Given the description of an element on the screen output the (x, y) to click on. 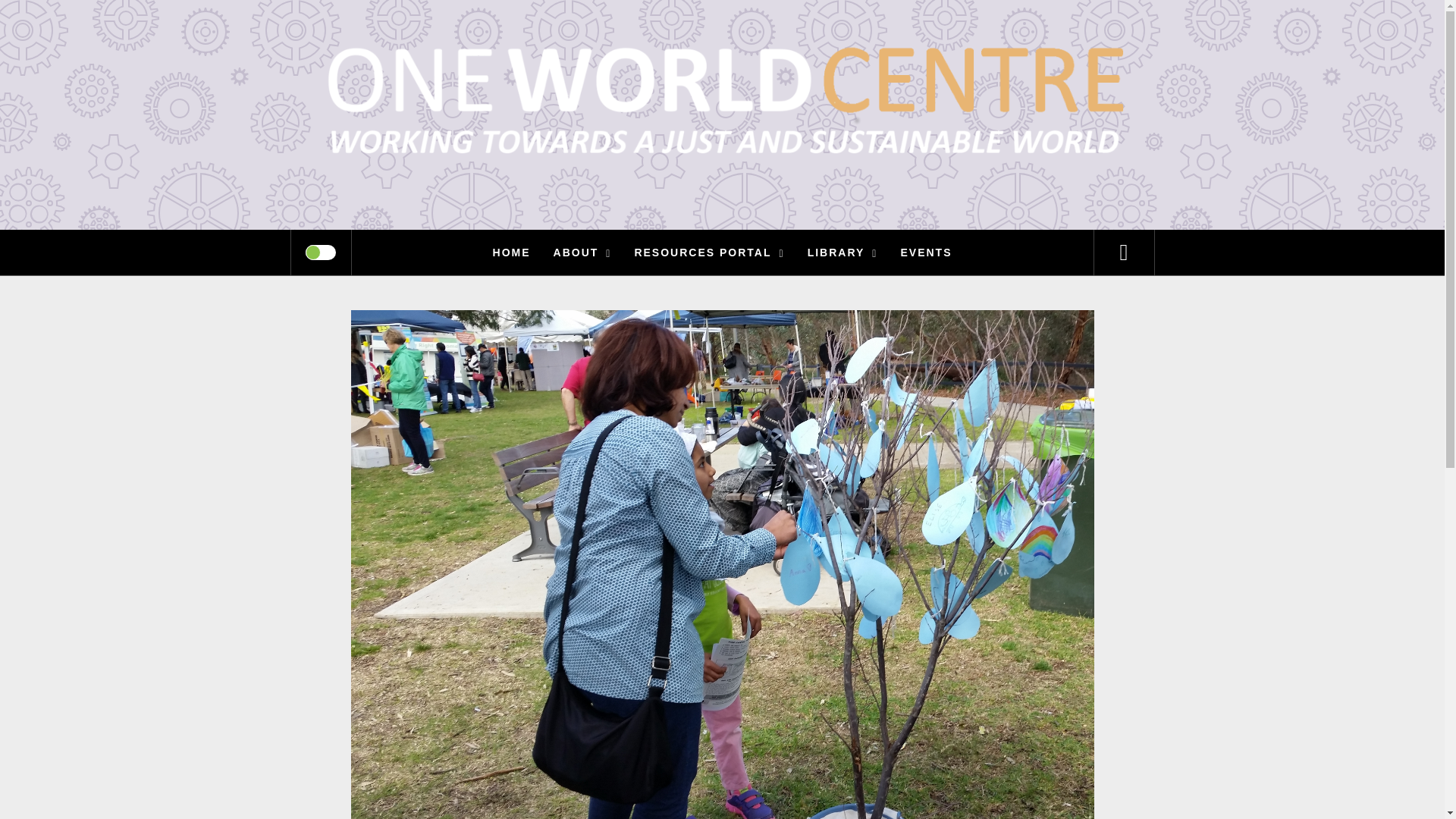
RESOURCES PORTAL (708, 252)
ABOUT (582, 252)
LIBRARY (842, 252)
Search (797, 33)
ONEWORLDCENTRE.ORG.AU (815, 61)
HOME (511, 252)
EVENTS (925, 252)
